Given the description of an element on the screen output the (x, y) to click on. 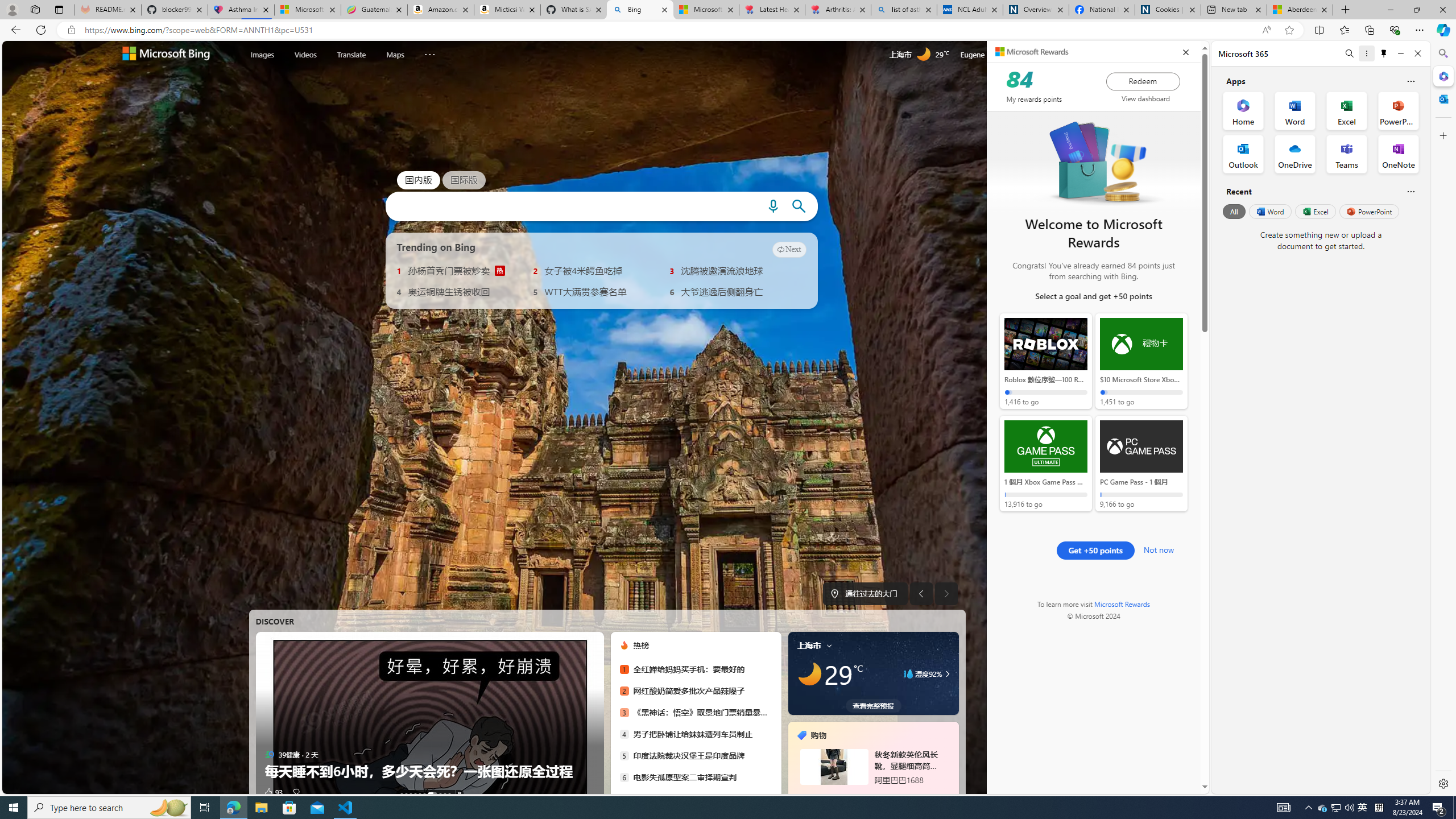
AutomationID: tab-5 (424, 793)
Welcome to Bing Search (165, 54)
Translate (351, 54)
Teams Office App (1346, 154)
Enter your search term (572, 206)
